Given the description of an element on the screen output the (x, y) to click on. 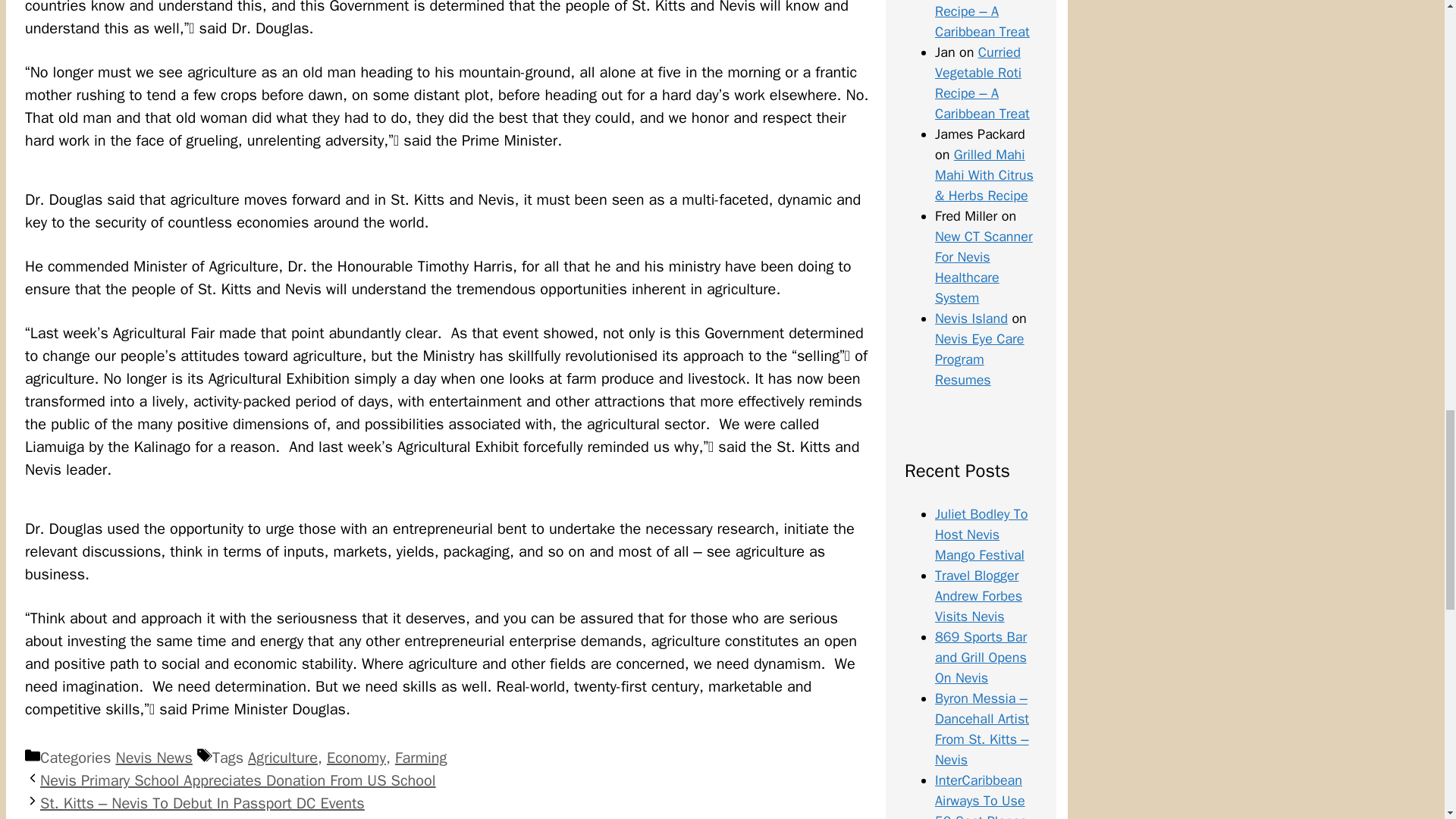
New CT Scanner For Nevis Healthcare System (983, 267)
Farming (420, 757)
Agriculture (282, 757)
Economy (355, 757)
Nevis Island (970, 318)
Nevis News (153, 757)
Nevis Primary School Appreciates Donation From US School (237, 780)
